Given the description of an element on the screen output the (x, y) to click on. 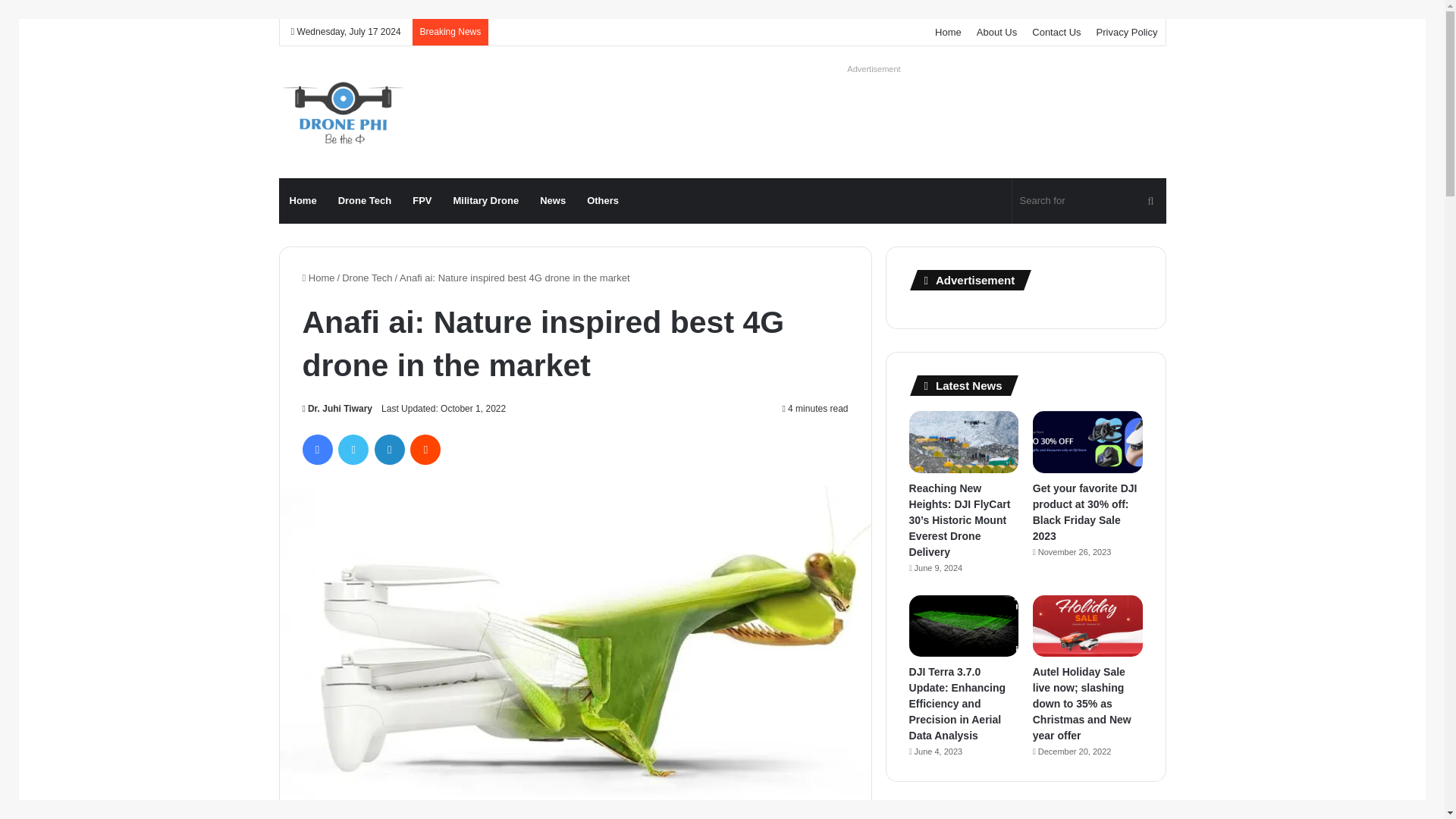
Facebook (316, 449)
dronephi (341, 112)
LinkedIn (389, 449)
News (552, 200)
Home (303, 200)
Dr. Juhi Tiwary (336, 408)
Drone Tech (366, 277)
Home (317, 277)
Reddit (425, 449)
Privacy Policy (1127, 31)
Facebook (316, 449)
Contact Us (1056, 31)
Twitter (352, 449)
Military Drone (485, 200)
About Us (997, 31)
